Given the description of an element on the screen output the (x, y) to click on. 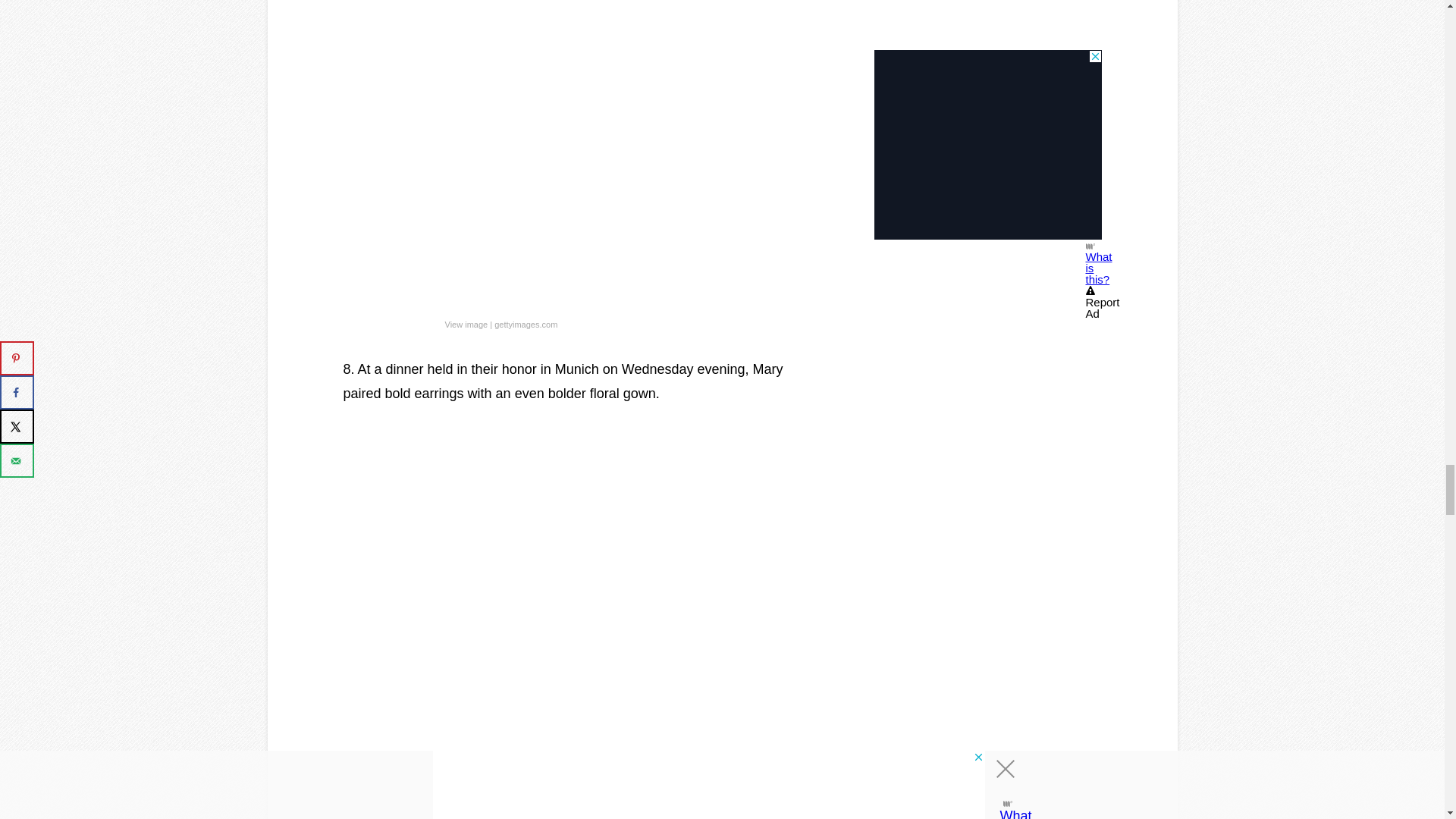
gettyimages.com (526, 324)
View image (465, 324)
